Given the description of an element on the screen output the (x, y) to click on. 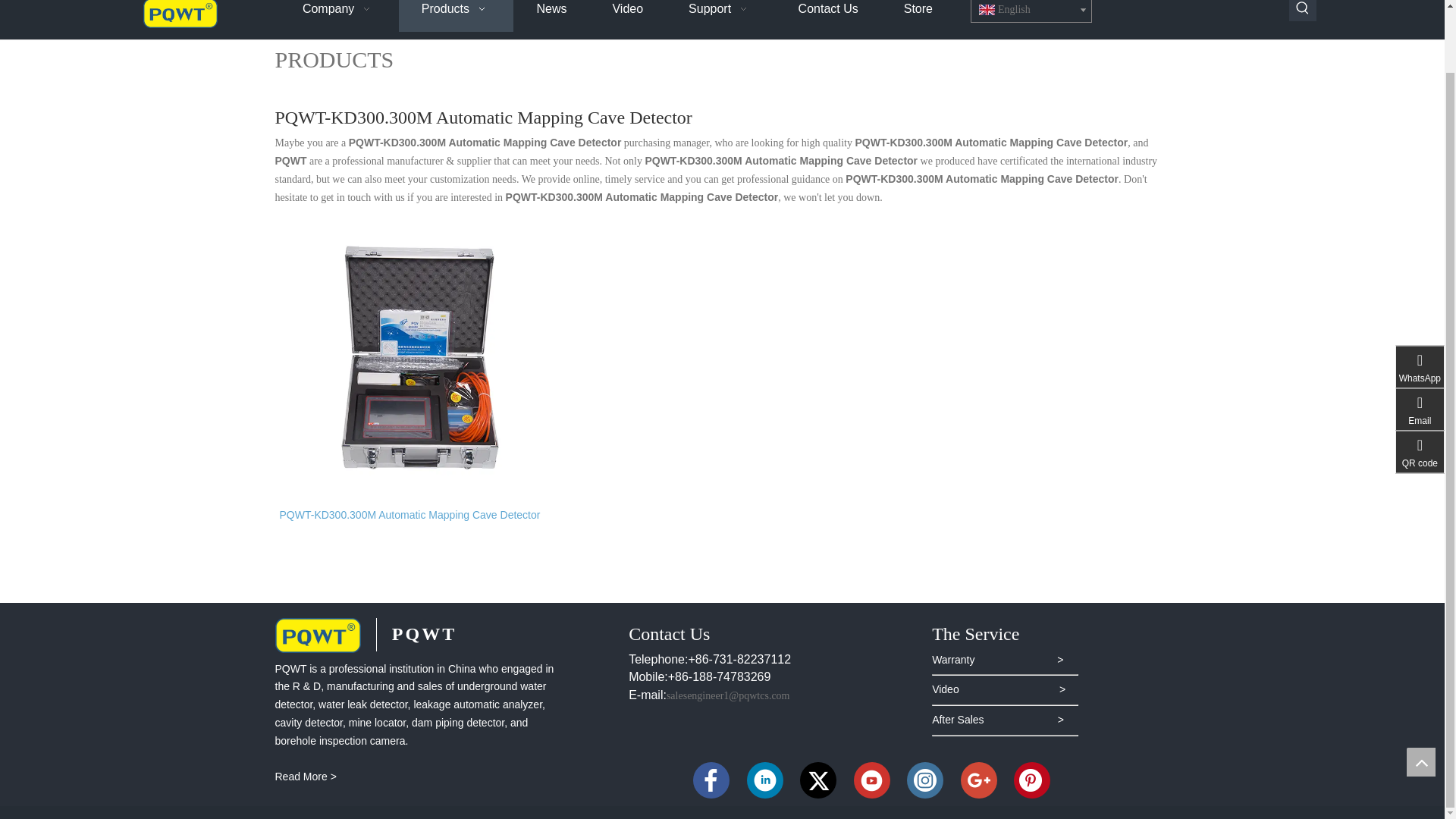
Company   (338, 15)
Logo (317, 634)
Support   (720, 15)
Youtube (871, 780)
Video (627, 15)
Logo (180, 13)
Facebook (711, 780)
Instagram (925, 780)
Store (917, 15)
News (551, 15)
